Given the description of an element on the screen output the (x, y) to click on. 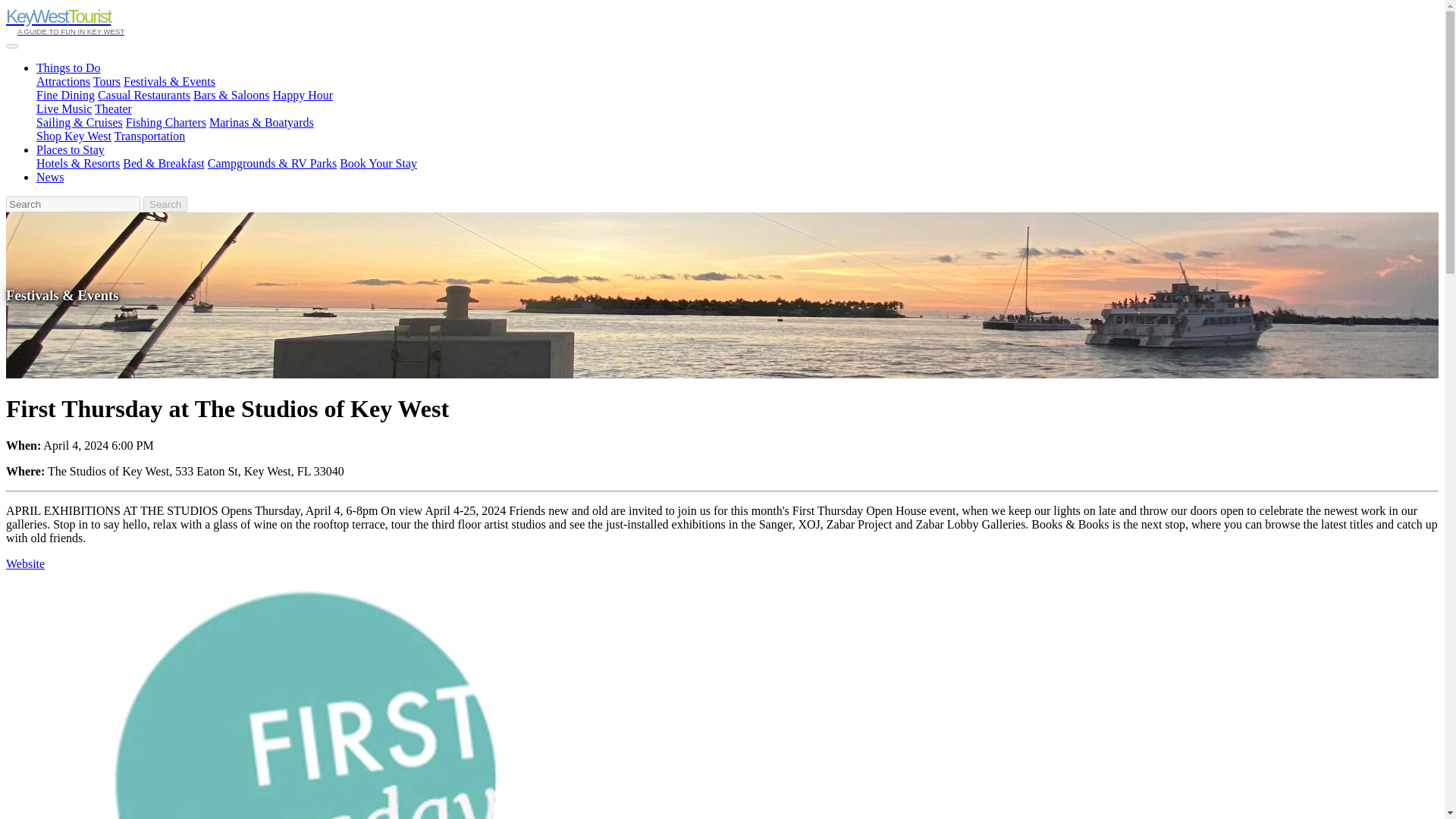
Casual Restaurants (143, 94)
Search (164, 204)
Website (25, 563)
Fine Dining (65, 94)
Shop Key West (74, 135)
Book Your Stay (377, 163)
Attractions (63, 81)
Theater (113, 108)
Tours (106, 81)
Places to Stay (70, 149)
Website (25, 563)
News (50, 176)
Transportation (150, 135)
Live Music (63, 108)
Things to Do (68, 67)
